Given the description of an element on the screen output the (x, y) to click on. 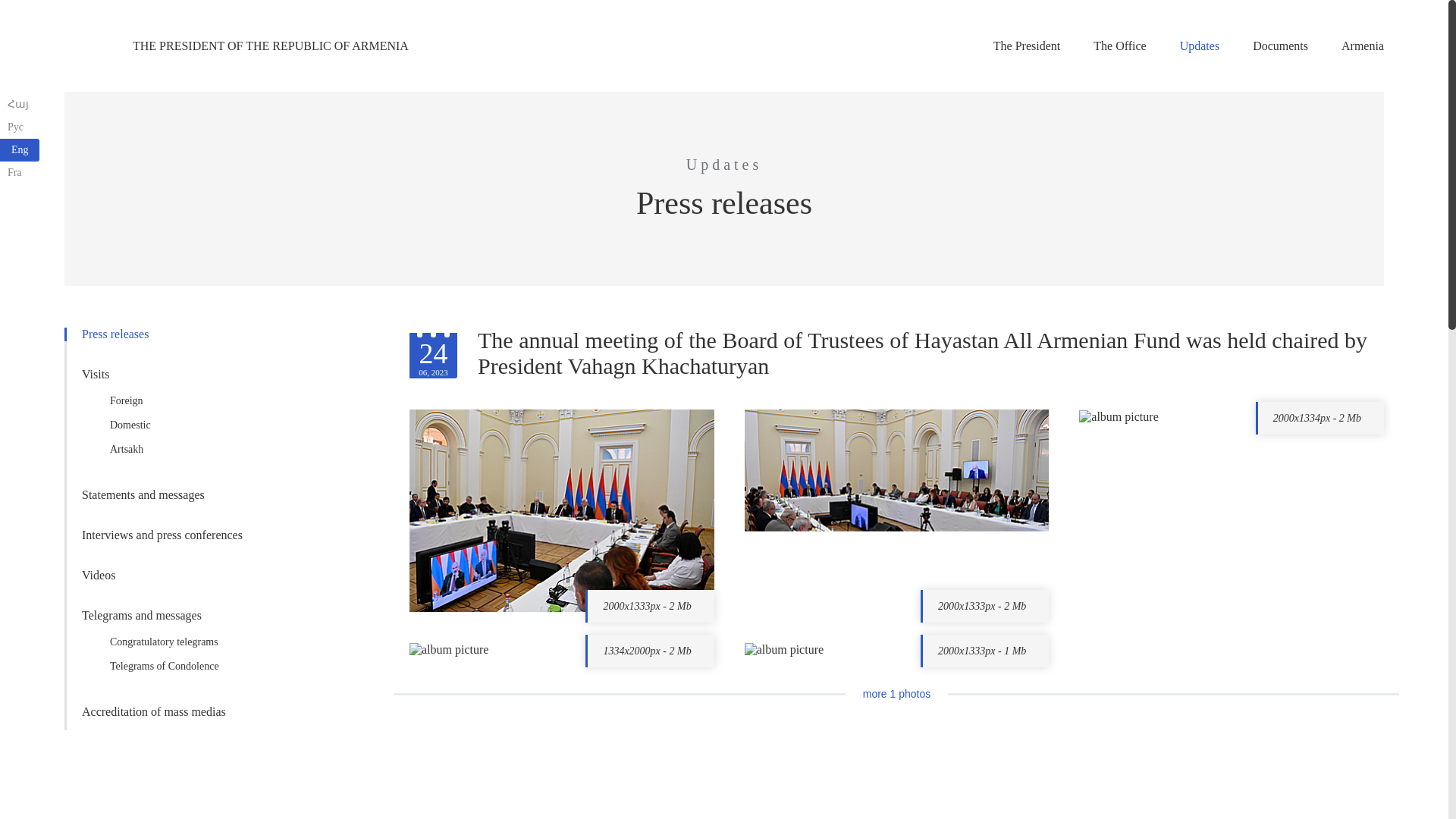
Visits (171, 374)
The President (1025, 45)
Documents (1279, 45)
Foreign (171, 401)
2000x1333px - 1 Mb (984, 650)
more 1 photos (897, 693)
2000x1333px - 2 Mb (649, 605)
Eng (19, 149)
Telegrams of Condolence (171, 666)
Artsakh (171, 449)
